Given the description of an element on the screen output the (x, y) to click on. 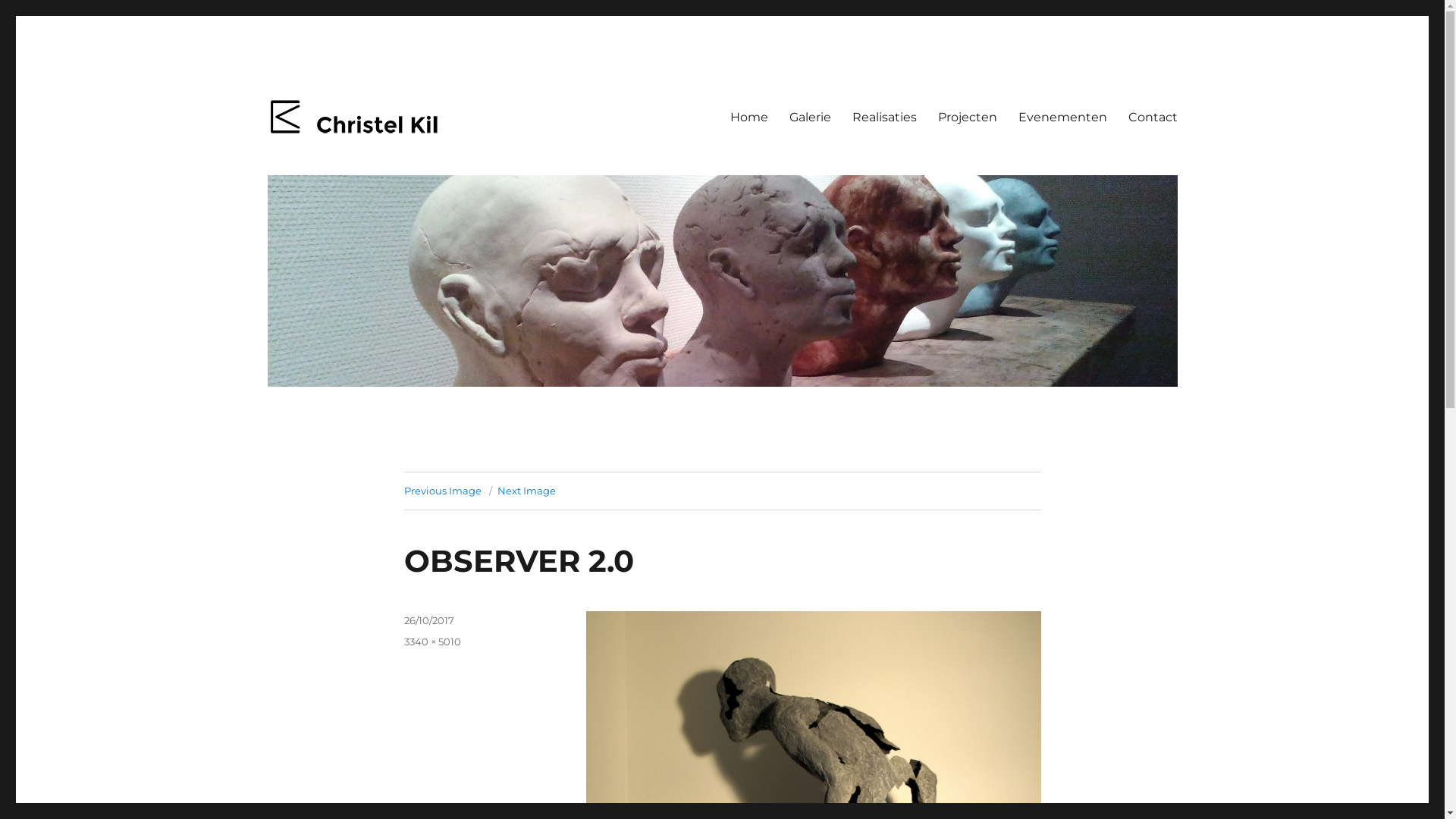
Galerie Element type: text (809, 116)
Projecten Element type: text (966, 116)
Previous Image Element type: text (441, 490)
Evenementen Element type: text (1062, 116)
26/10/2017 Element type: text (428, 620)
Contact Element type: text (1152, 116)
Christel Kil Element type: text (326, 159)
Home Element type: text (748, 116)
Next Image Element type: text (526, 490)
Realisaties Element type: text (884, 116)
